Given the description of an element on the screen output the (x, y) to click on. 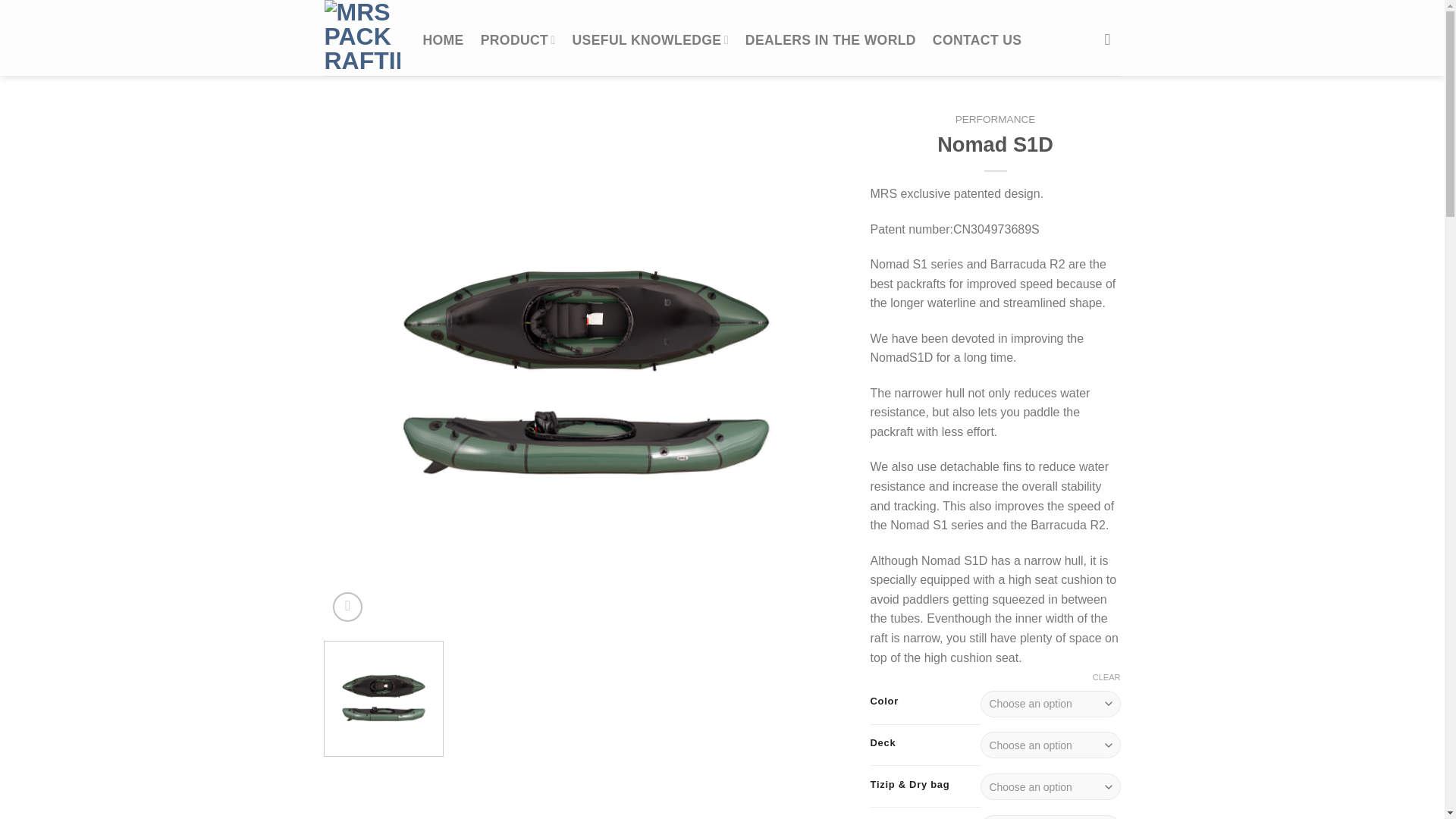
MRS Pack Rafting - welcome (362, 38)
PRODUCT (518, 39)
HOME (443, 39)
